Given the description of an element on the screen output the (x, y) to click on. 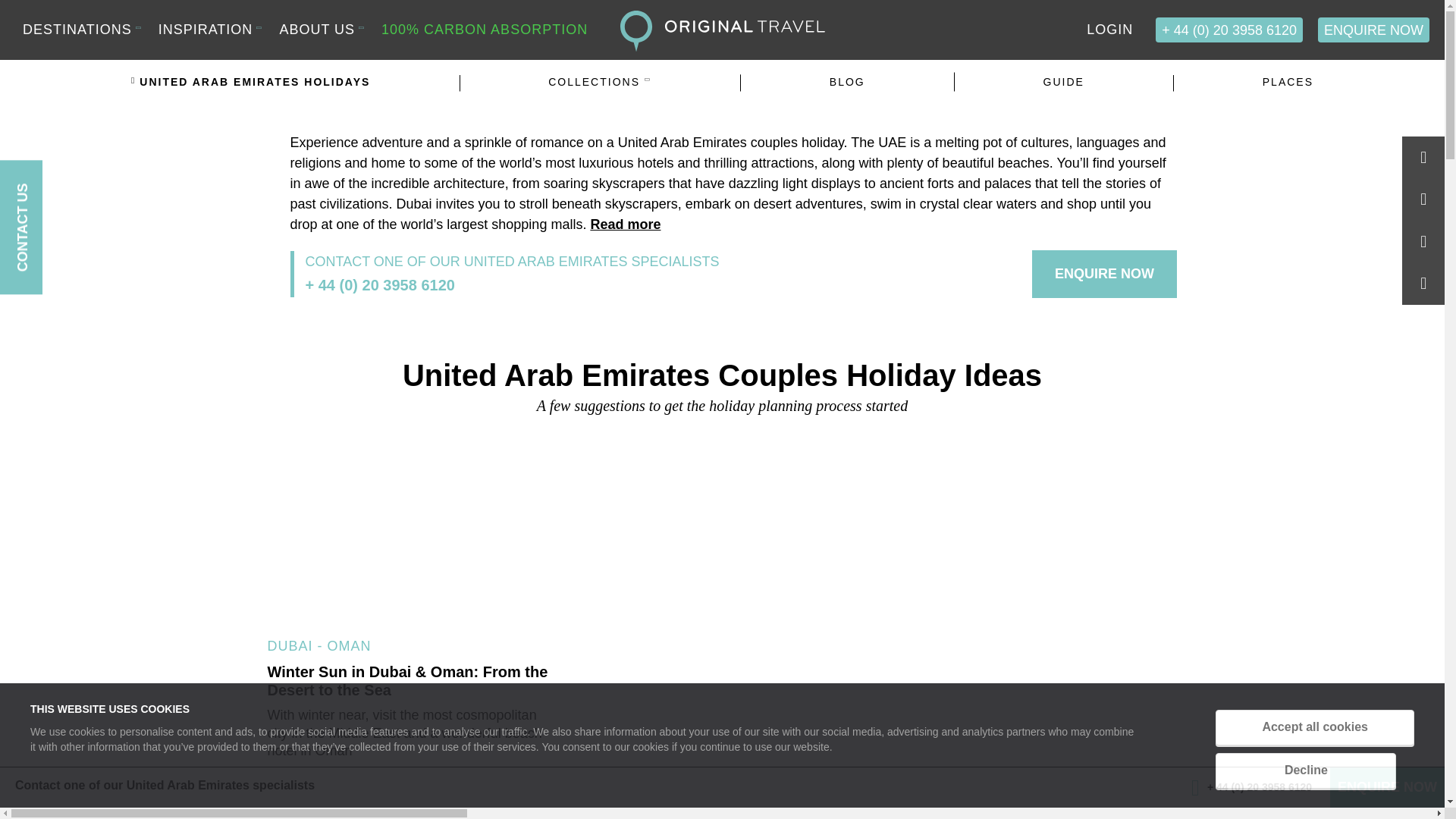
DESTINATIONS (77, 29)
Decline (1305, 770)
Accept all cookies (1314, 727)
